Given the description of an element on the screen output the (x, y) to click on. 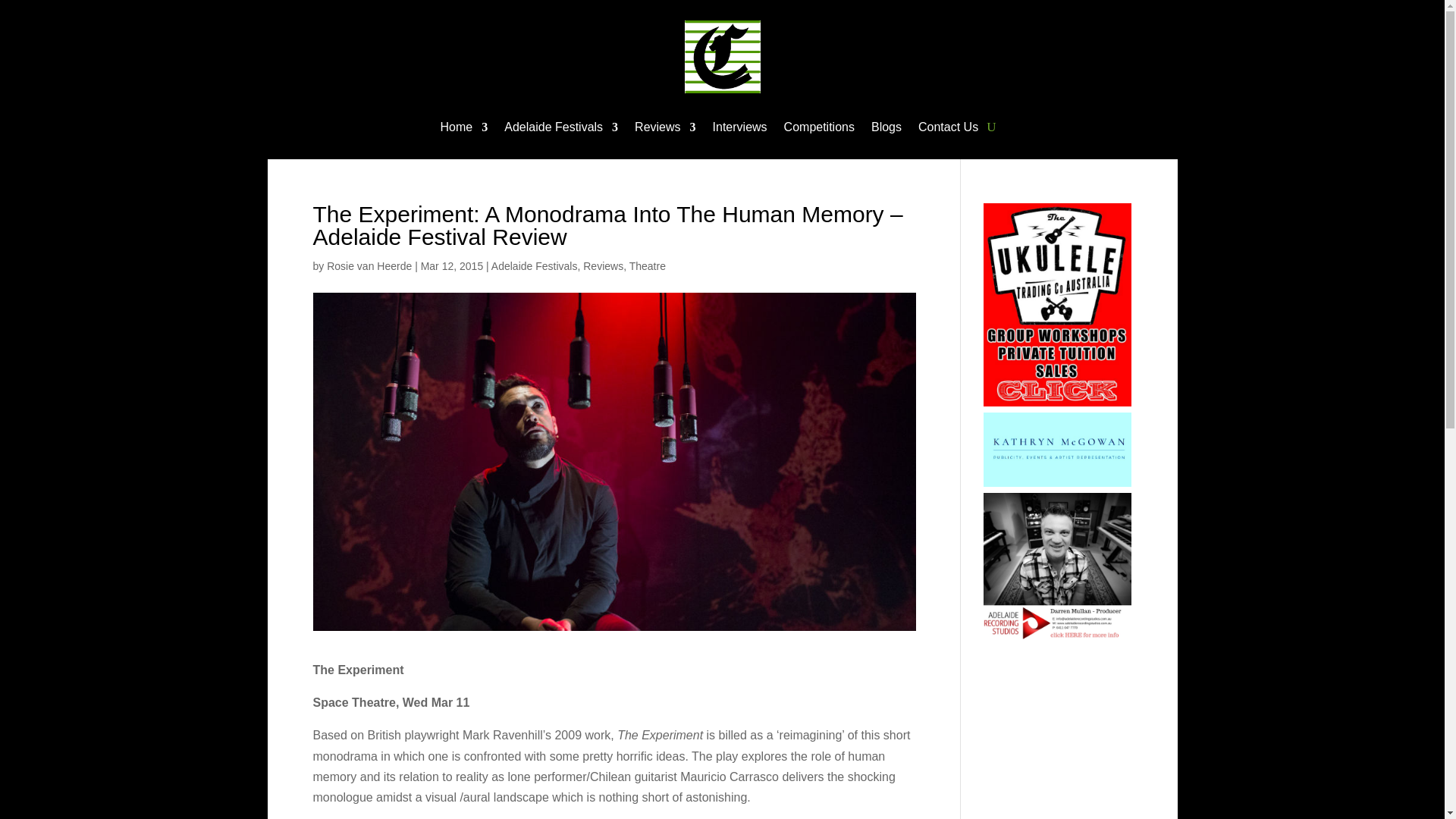
Contact Us (948, 129)
Adelaide Festivals (560, 129)
Blogs (885, 129)
Interviews (740, 129)
Competitions (819, 129)
Clothesline C icon 3 (722, 56)
Posts by Rosie van Heerde (369, 265)
Reviews (664, 129)
Home (464, 129)
